Given the description of an element on the screen output the (x, y) to click on. 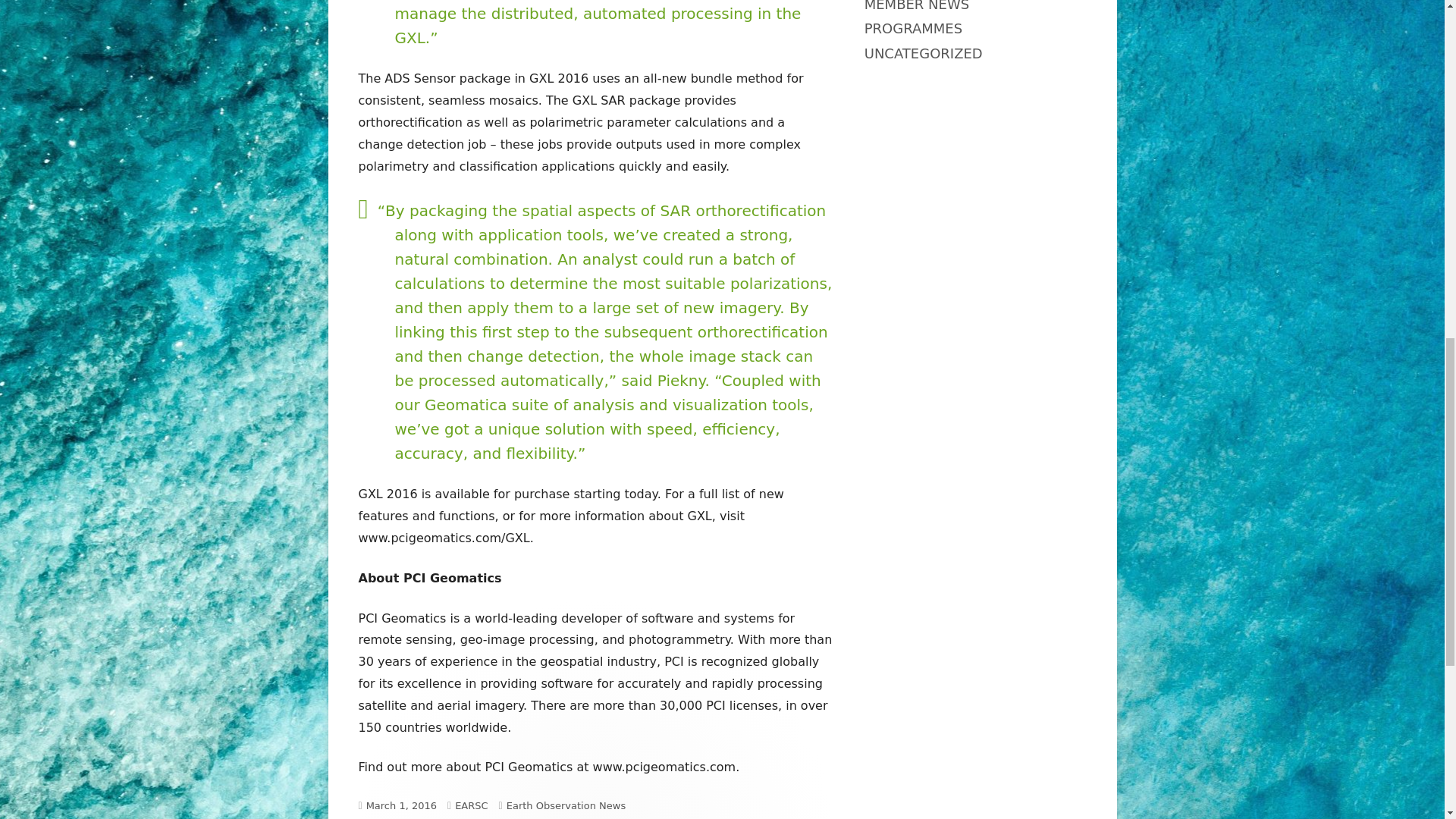
MEMBER NEWS (916, 6)
PROGRAMMES (913, 28)
March 1, 2016 (401, 805)
EARSC (470, 805)
UNCATEGORIZED (923, 53)
Earth Observation News (566, 805)
